Given the description of an element on the screen output the (x, y) to click on. 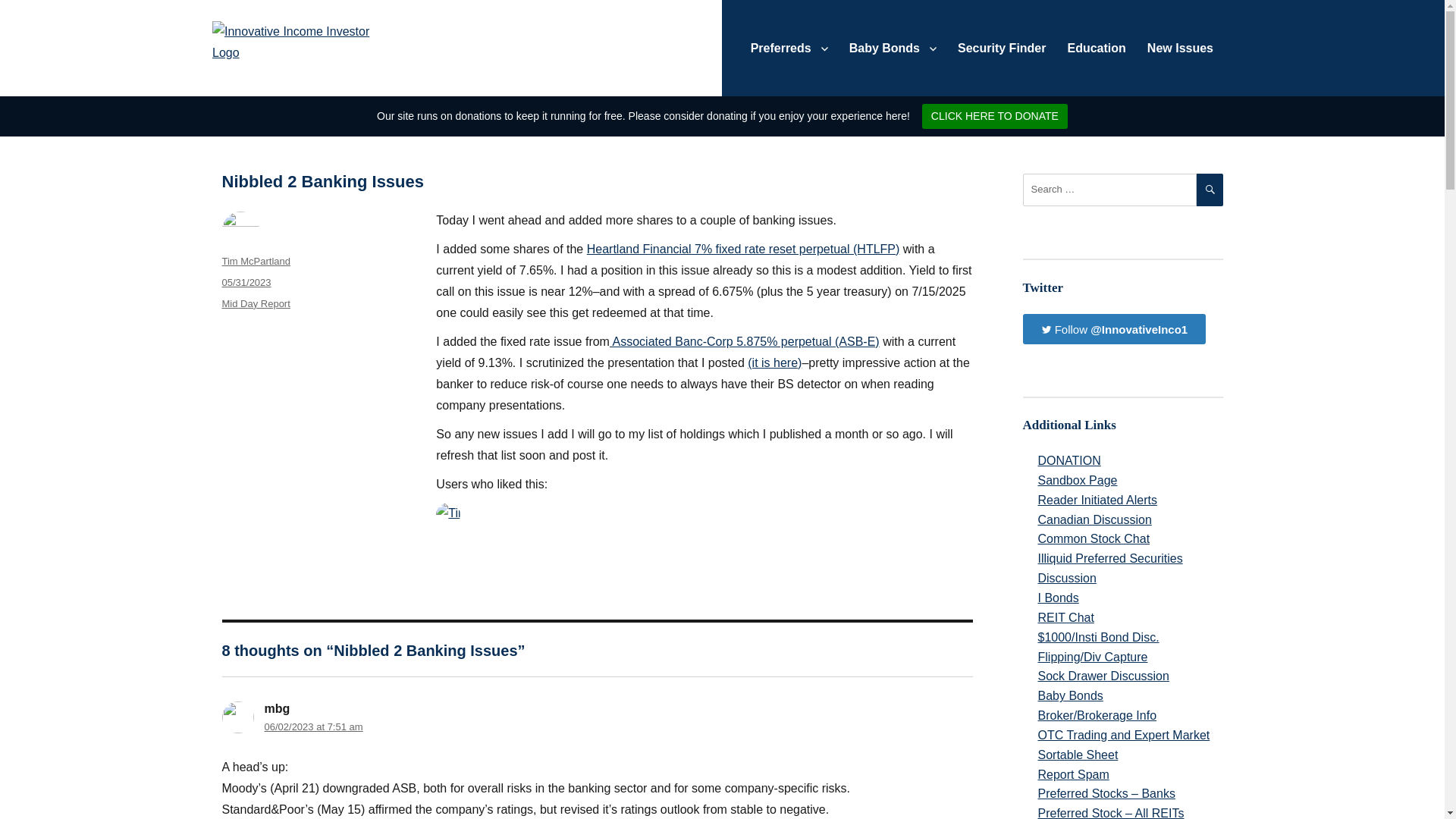
Preferreds (788, 47)
Mid Day Report (255, 303)
New Issues (1180, 47)
Tim McPartland (255, 260)
CLICK HERE TO DONATE (994, 116)
Tim McPartland (447, 514)
Security Finder (1002, 47)
Education (1097, 47)
Baby Bonds (892, 47)
